Given the description of an element on the screen output the (x, y) to click on. 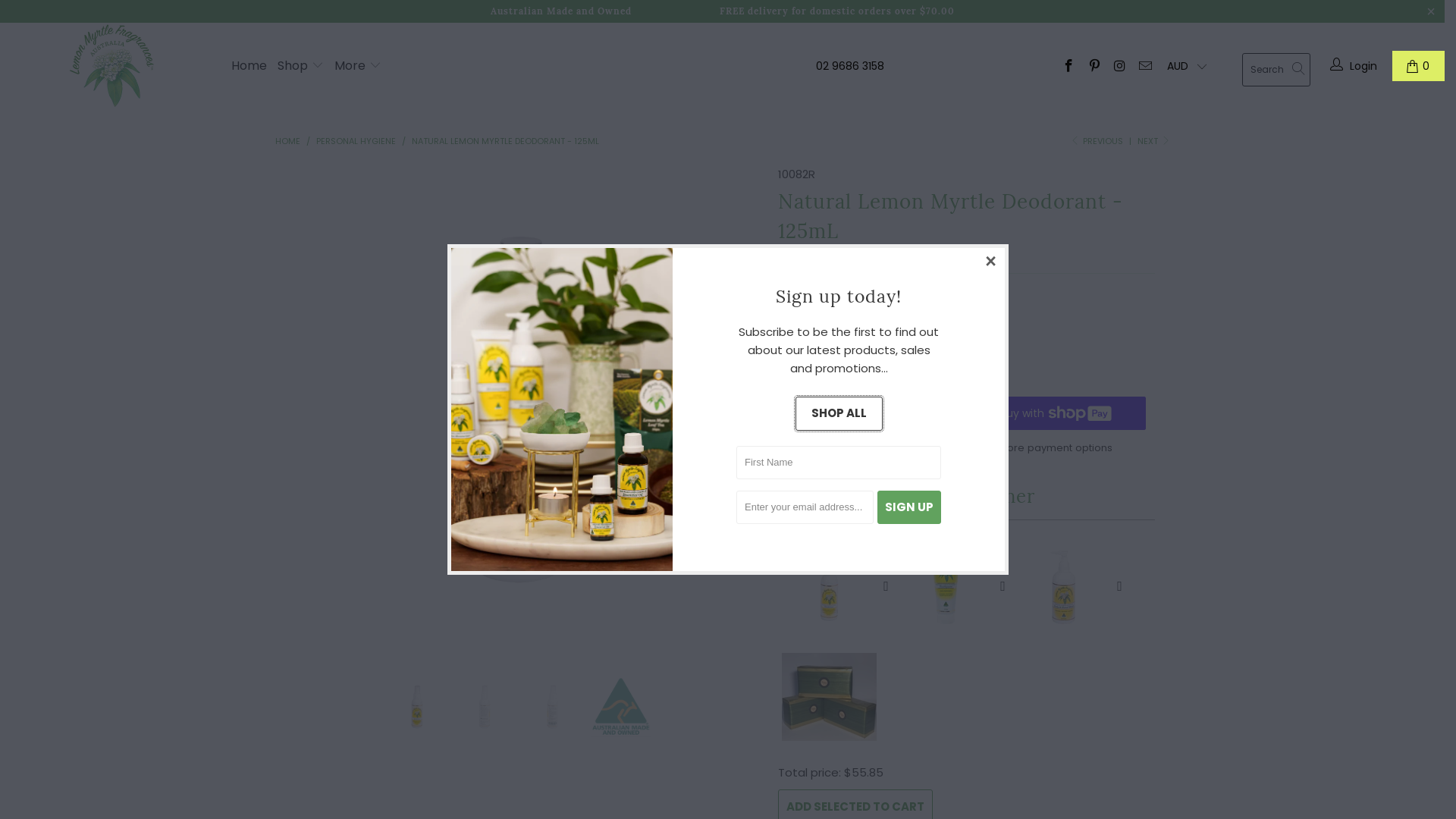
Lemon Myrtle Fragrances on Facebook Element type: hover (1068, 67)
Login Element type: text (1354, 65)
NATURAL LEMON MYRTLE DEODORANT - 125ML Element type: text (504, 140)
Home Element type: text (248, 65)
Close Element type: hover (990, 261)
Lemon Myrtle Fragrances on Pinterest Element type: hover (1093, 67)
NEXT Element type: text (1153, 140)
ADD TO CART Element type: text (867, 412)
Email Lemon Myrtle Fragrances Element type: hover (1143, 67)
PREVIOUS Element type: text (1096, 140)
SHOP ALL Element type: text (837, 413)
Shop Element type: text (300, 65)
HOME Element type: text (286, 140)
02 9686 3158 Element type: text (849, 65)
0 Element type: text (1418, 65)
Sign Up Element type: text (908, 507)
More Element type: text (357, 65)
More payment options Element type: text (1055, 445)
PERSONAL HYGIENE Element type: text (356, 140)
Lemon Myrtle Fragrances on Instagram Element type: hover (1118, 67)
Lemon Myrtle Fragrances Element type: hover (113, 65)
